Given the description of an element on the screen output the (x, y) to click on. 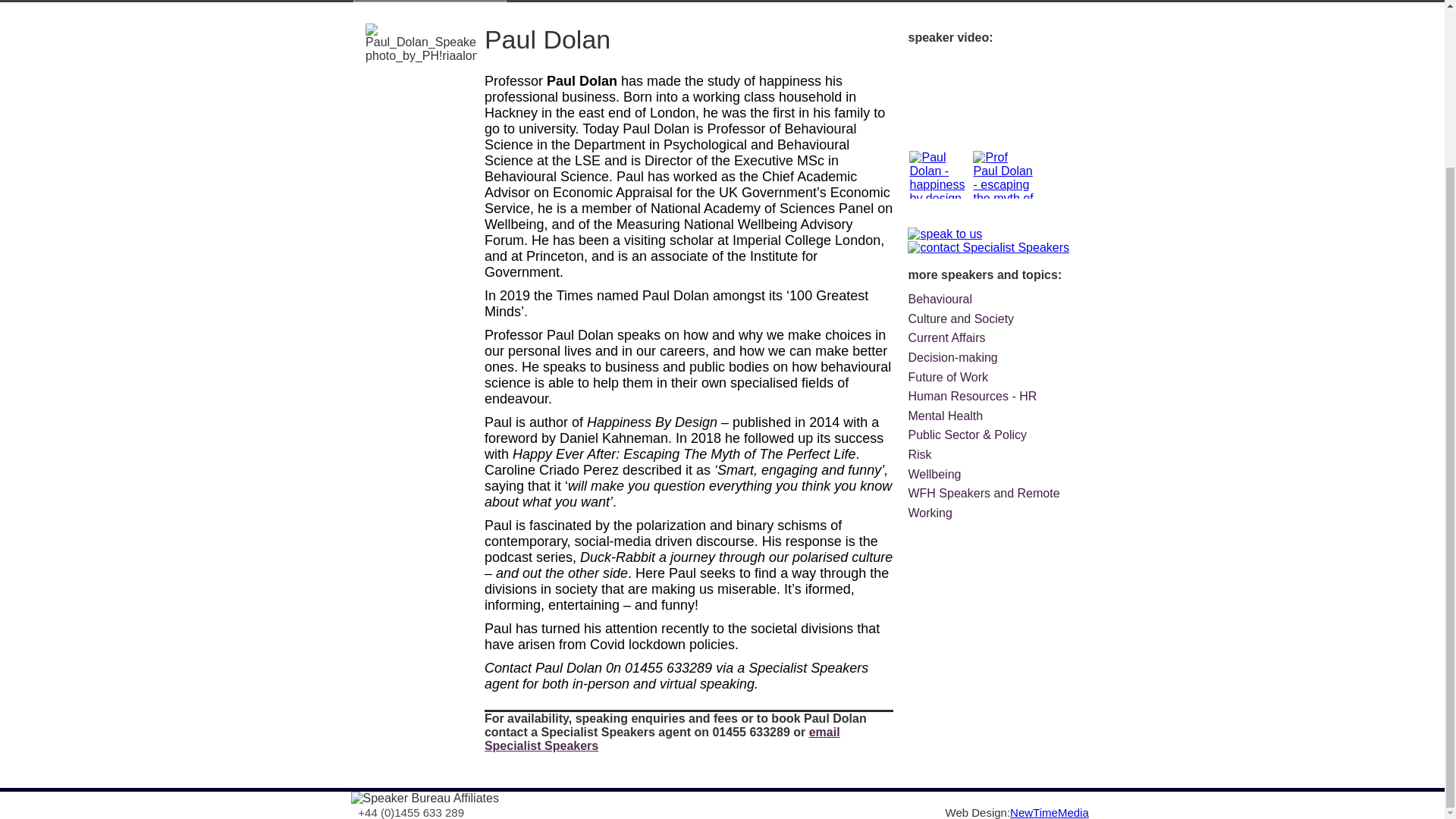
Paul Dolan - happiness by design (938, 197)
Risk (919, 454)
Human Resources - HR (971, 395)
WFH Speakers and Remote Working (983, 502)
Decision-making (952, 357)
Contact Specialist Speakers (992, 247)
Prof Paul Dolan - escaping the myth of the perfect life (1002, 225)
Paul Dolan (662, 738)
Behavioural (939, 298)
Future of Work (947, 377)
Wellbeing (933, 473)
email Specialist Speakers (662, 738)
Current Affairs (946, 337)
Mental Health (944, 415)
Culture and Society (960, 318)
